Given the description of an element on the screen output the (x, y) to click on. 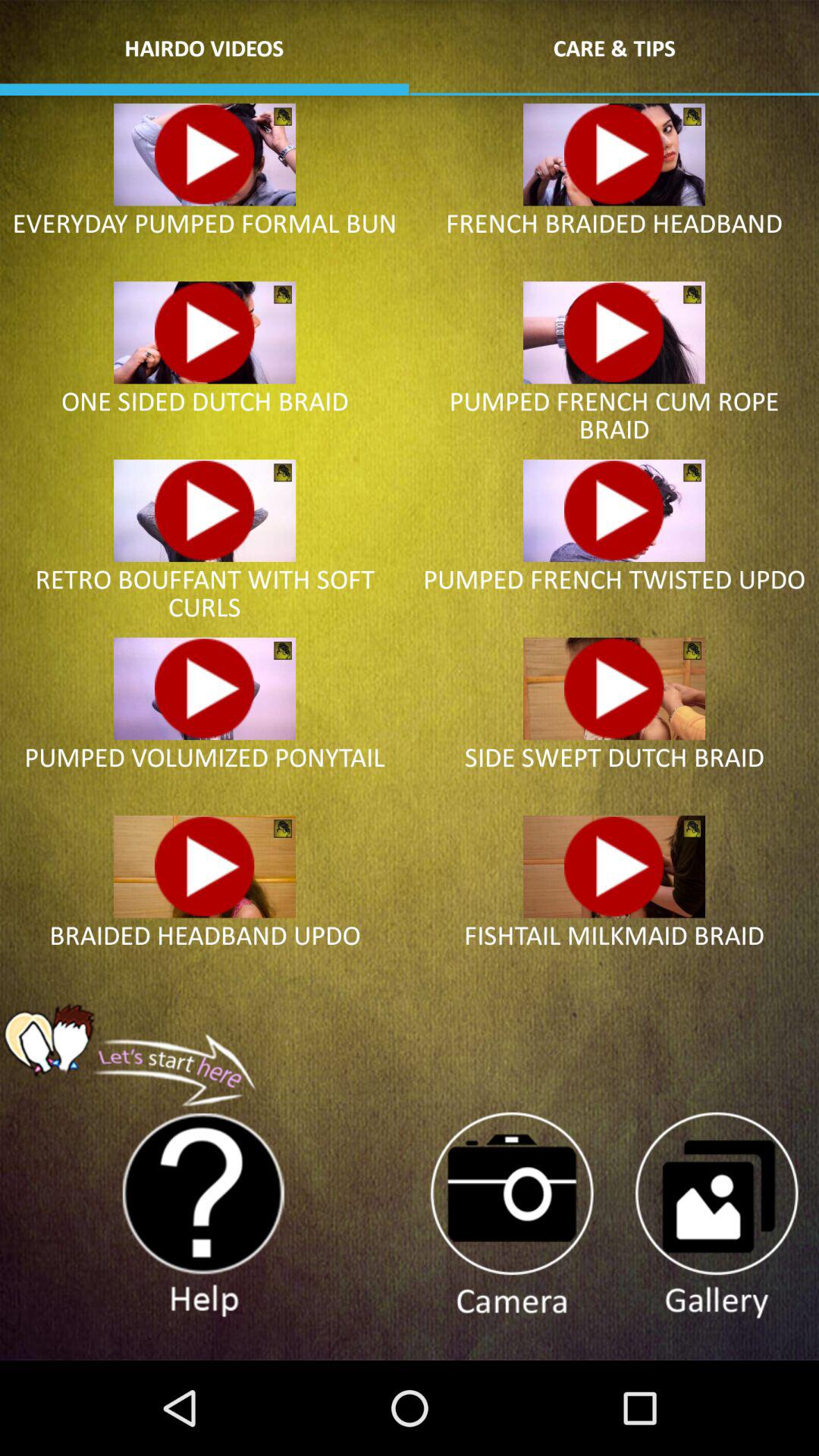
gallery (716, 1215)
